Given the description of an element on the screen output the (x, y) to click on. 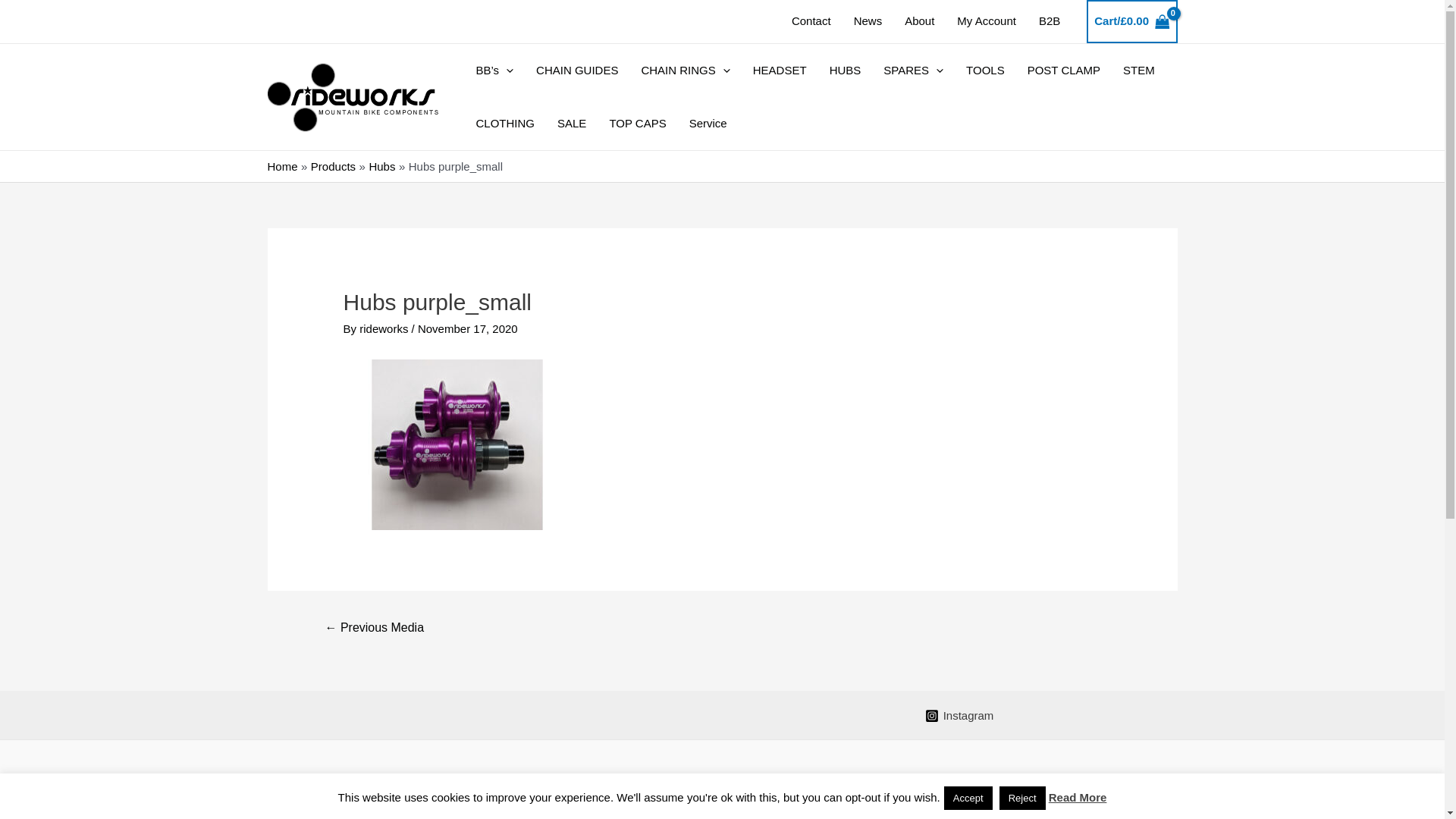
Home Element type: text (281, 165)
About Element type: text (919, 21)
TOOLS Element type: text (985, 70)
Accept Element type: text (968, 797)
CHAIN GUIDES Element type: text (576, 70)
SALE Element type: text (571, 123)
B2B Element type: text (1049, 21)
Read More Element type: text (1077, 796)
CLOTHING Element type: text (505, 123)
Contact Element type: text (811, 21)
HEADSET Element type: text (779, 70)
STEM Element type: text (1138, 70)
POST CLAMP Element type: text (1063, 70)
Products Element type: text (332, 165)
rideworks Element type: text (385, 328)
SPARES Element type: text (913, 70)
Service Element type: text (707, 123)
Hubs Element type: text (381, 165)
HUBS Element type: text (845, 70)
CHAIN RINGS Element type: text (684, 70)
News Element type: text (868, 21)
TOP CAPS Element type: text (637, 123)
My Account Element type: text (986, 21)
Reject Element type: text (1022, 797)
Instagram Element type: text (959, 715)
